Given the description of an element on the screen output the (x, y) to click on. 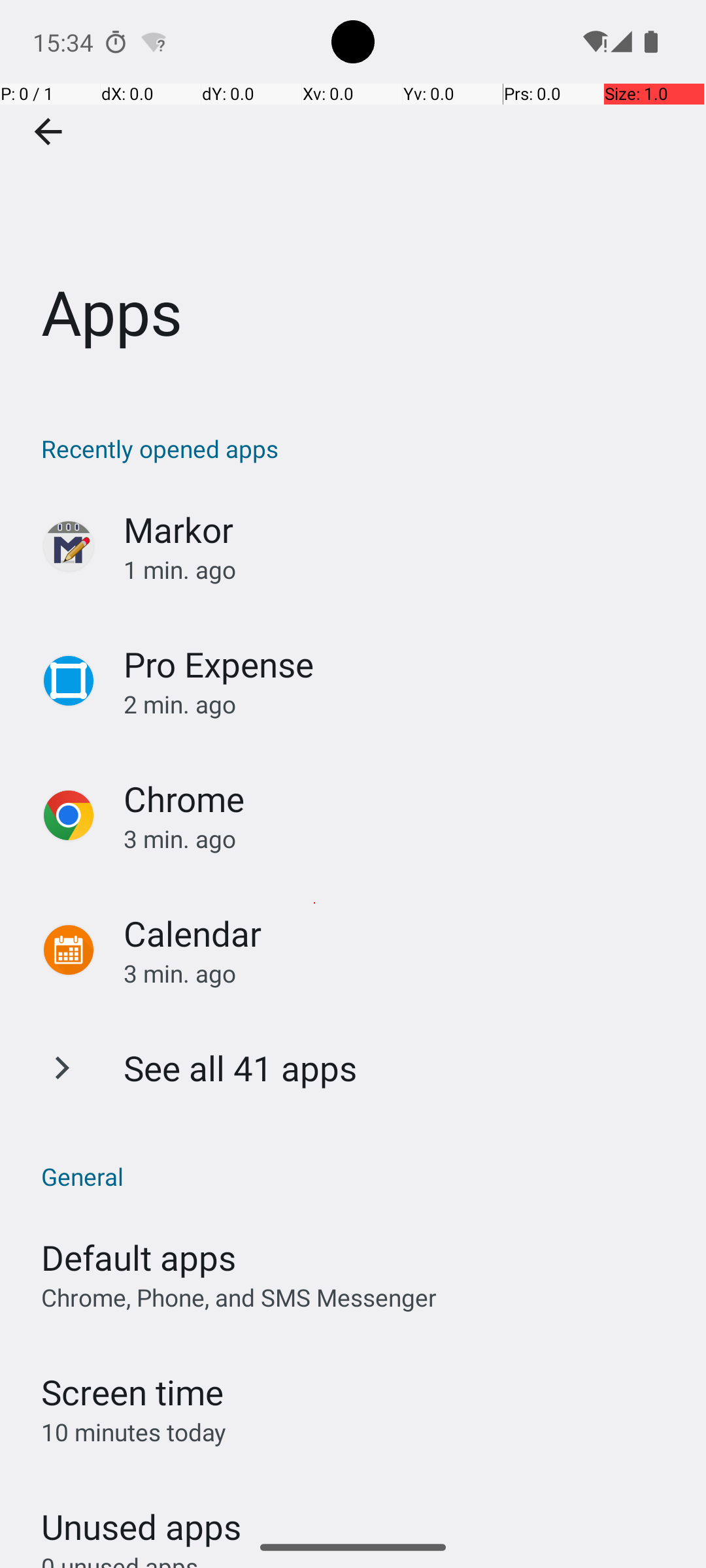
Recently opened apps Element type: android.widget.TextView (359, 448)
1 min. ago Element type: android.widget.TextView (400, 569)
2 min. ago Element type: android.widget.TextView (400, 703)
3 min. ago Element type: android.widget.TextView (400, 838)
See all 41 apps Element type: android.widget.TextView (239, 1067)
Default apps Element type: android.widget.TextView (138, 1257)
Chrome, Phone, and SMS Messenger Element type: android.widget.TextView (238, 1296)
10 minutes today Element type: android.widget.TextView (133, 1431)
Unused apps Element type: android.widget.TextView (141, 1514)
